Given the description of an element on the screen output the (x, y) to click on. 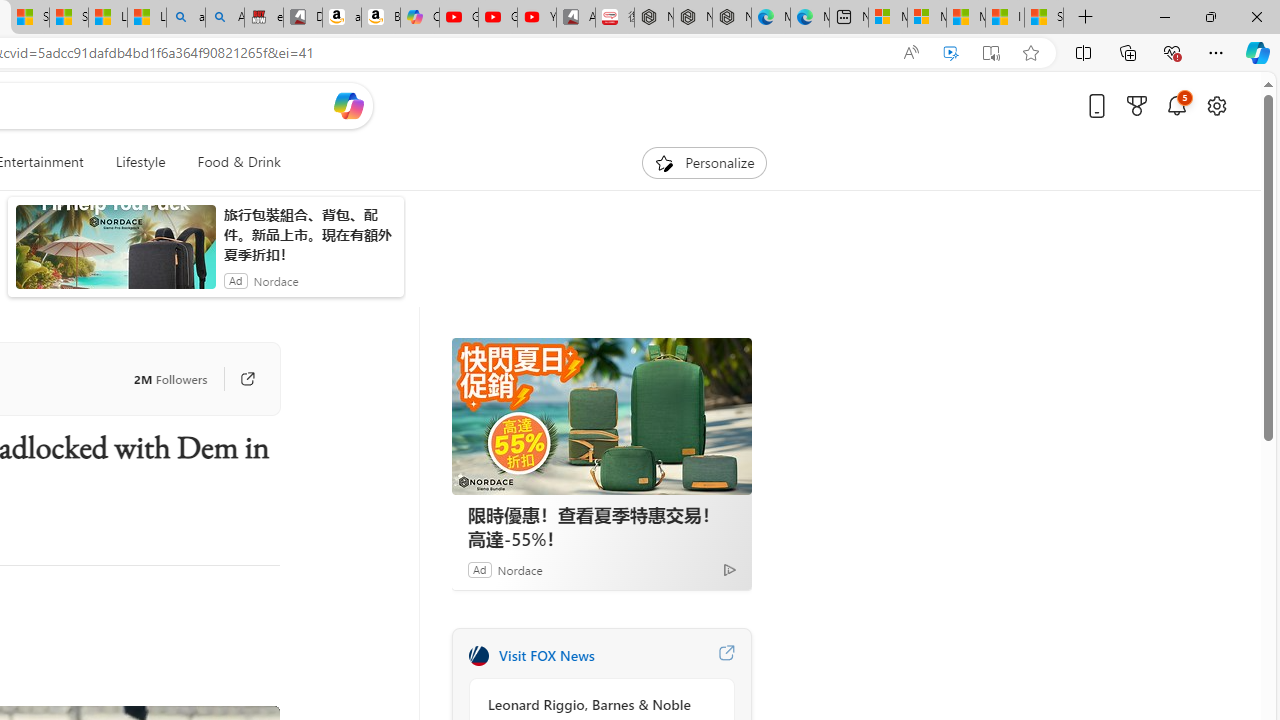
Gloom - YouTube (497, 17)
FOX News (478, 655)
Go to publisher's site (237, 378)
Enhance video (950, 53)
YouTube Kids - An App Created for Kids to Explore Content (536, 17)
To get missing image descriptions, open the context menu. (664, 162)
Nordace Comino Totepack (653, 17)
